Given the description of an element on the screen output the (x, y) to click on. 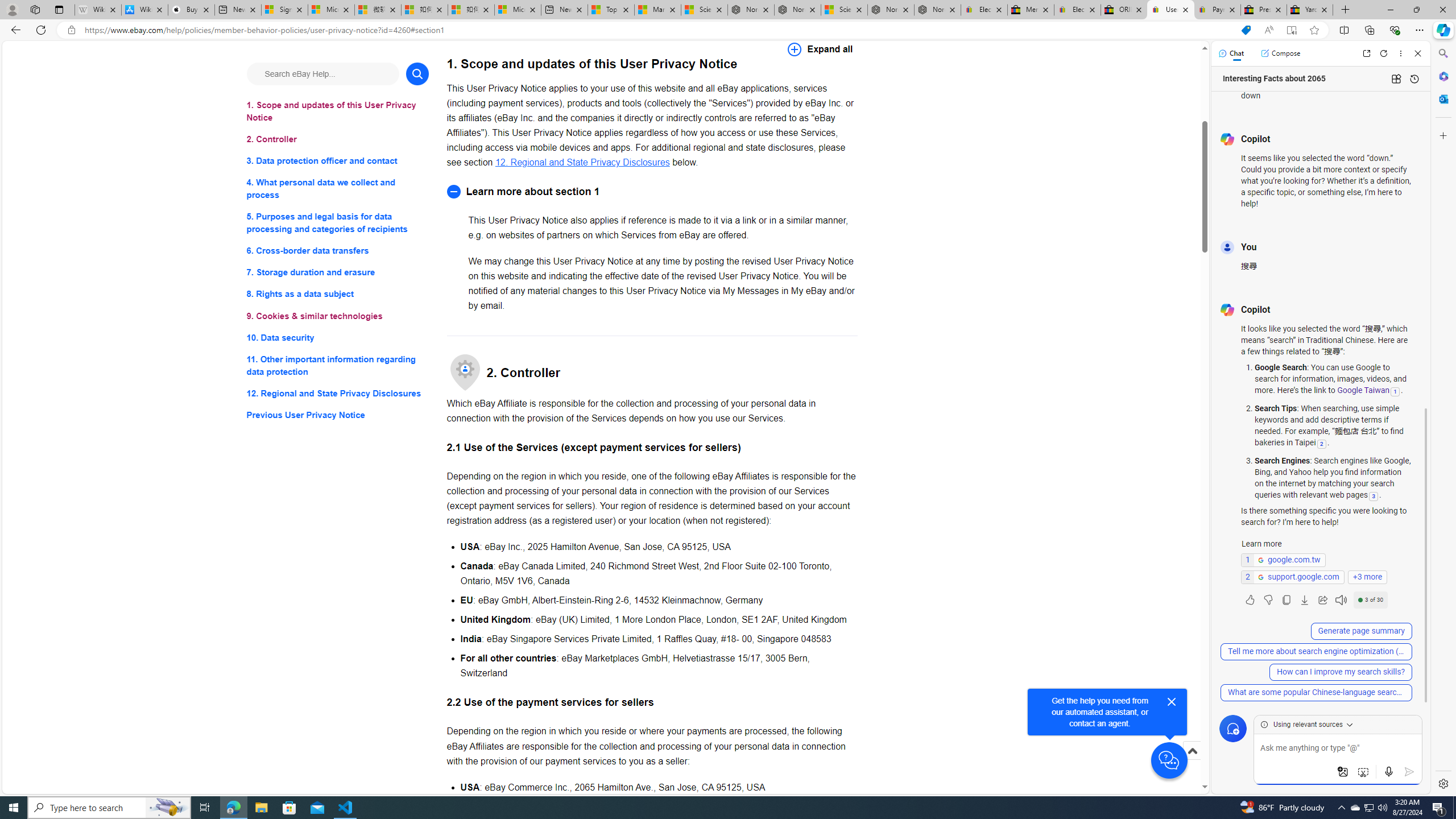
Previous User Privacy Notice (337, 414)
10. Data security (337, 336)
7. Storage duration and erasure (337, 272)
8. Rights as a data subject (337, 293)
1. Scope and updates of this User Privacy Notice (337, 111)
4. What personal data we collect and process (337, 189)
8. Rights as a data subject (337, 293)
12. Regional and State Privacy Disclosures (582, 162)
